Given the description of an element on the screen output the (x, y) to click on. 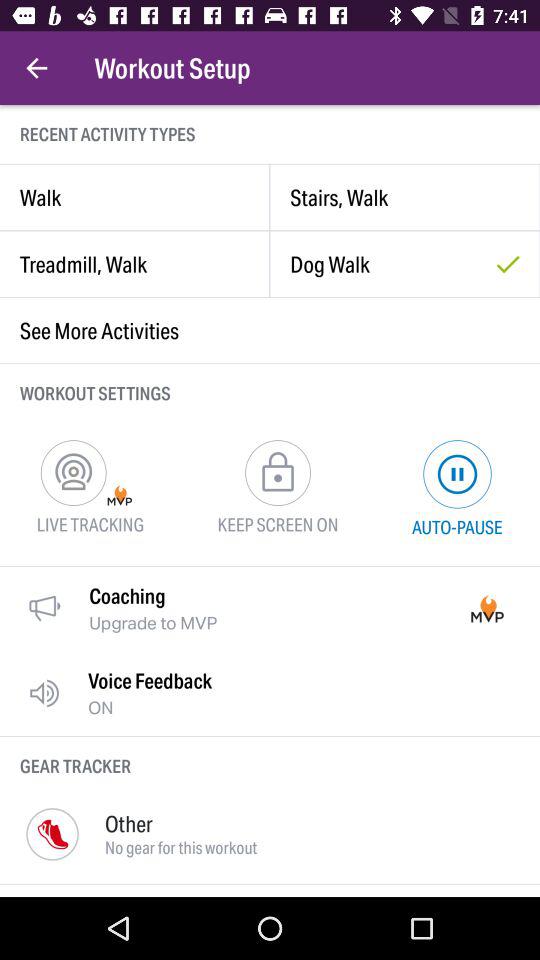
click the icon above keep screen on (278, 472)
click on the icon above the text live tracking (73, 472)
select the icon shoe option which is in the bottom of the page (51, 834)
